Given the description of an element on the screen output the (x, y) to click on. 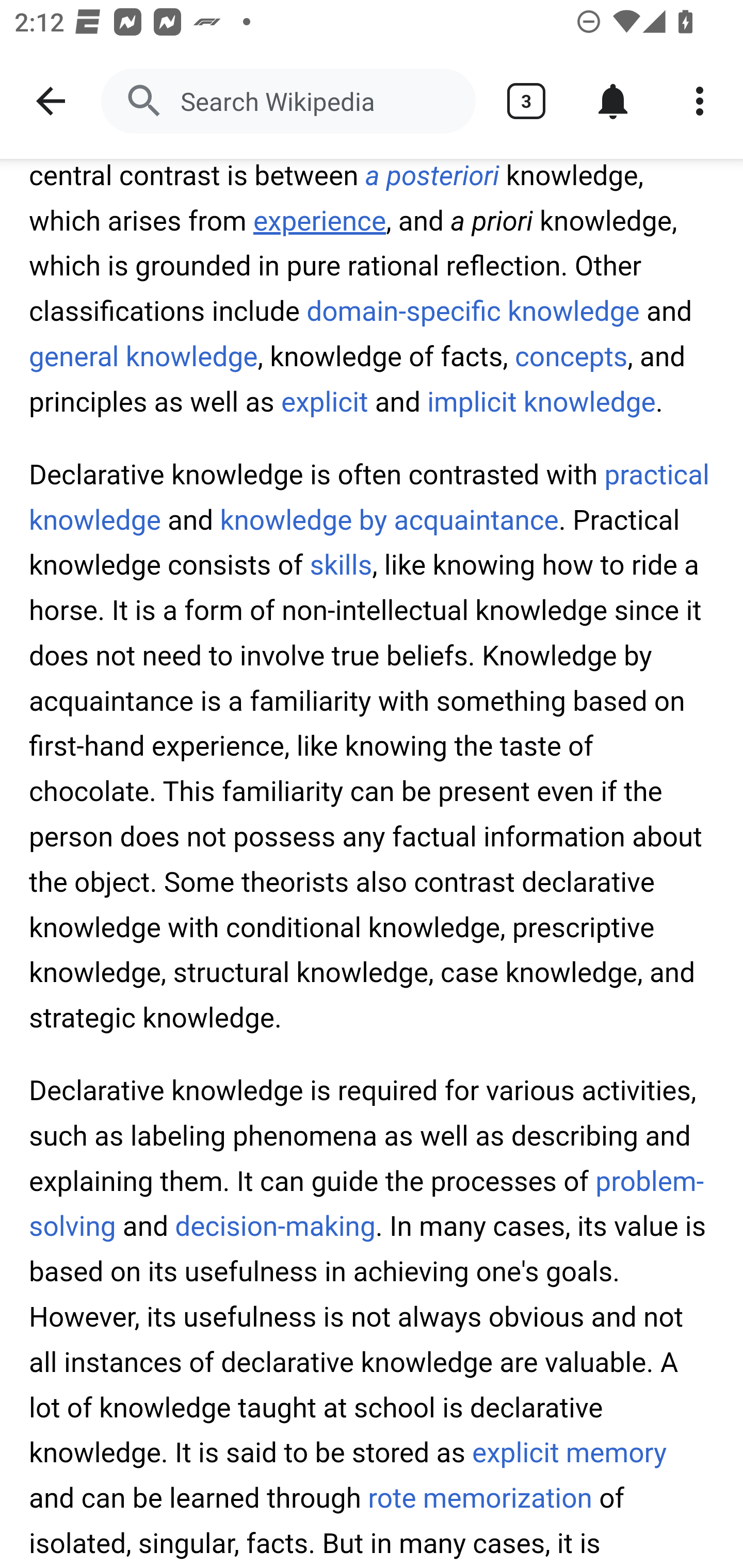
Show tabs 3 (525, 100)
Notifications (612, 100)
Navigate up (50, 101)
More options (699, 101)
Search Wikipedia (288, 100)
a posteriori (432, 176)
experience (319, 222)
domain-specific knowledge (472, 313)
general knowledge (142, 357)
concepts (571, 357)
explicit (324, 402)
implicit knowledge (541, 402)
practical knowledge (369, 499)
knowledge by acquaintance (388, 521)
skills (340, 567)
problem-solving (366, 1205)
decision-making (275, 1227)
explicit memory (569, 1453)
rote memorization (479, 1500)
